Given the description of an element on the screen output the (x, y) to click on. 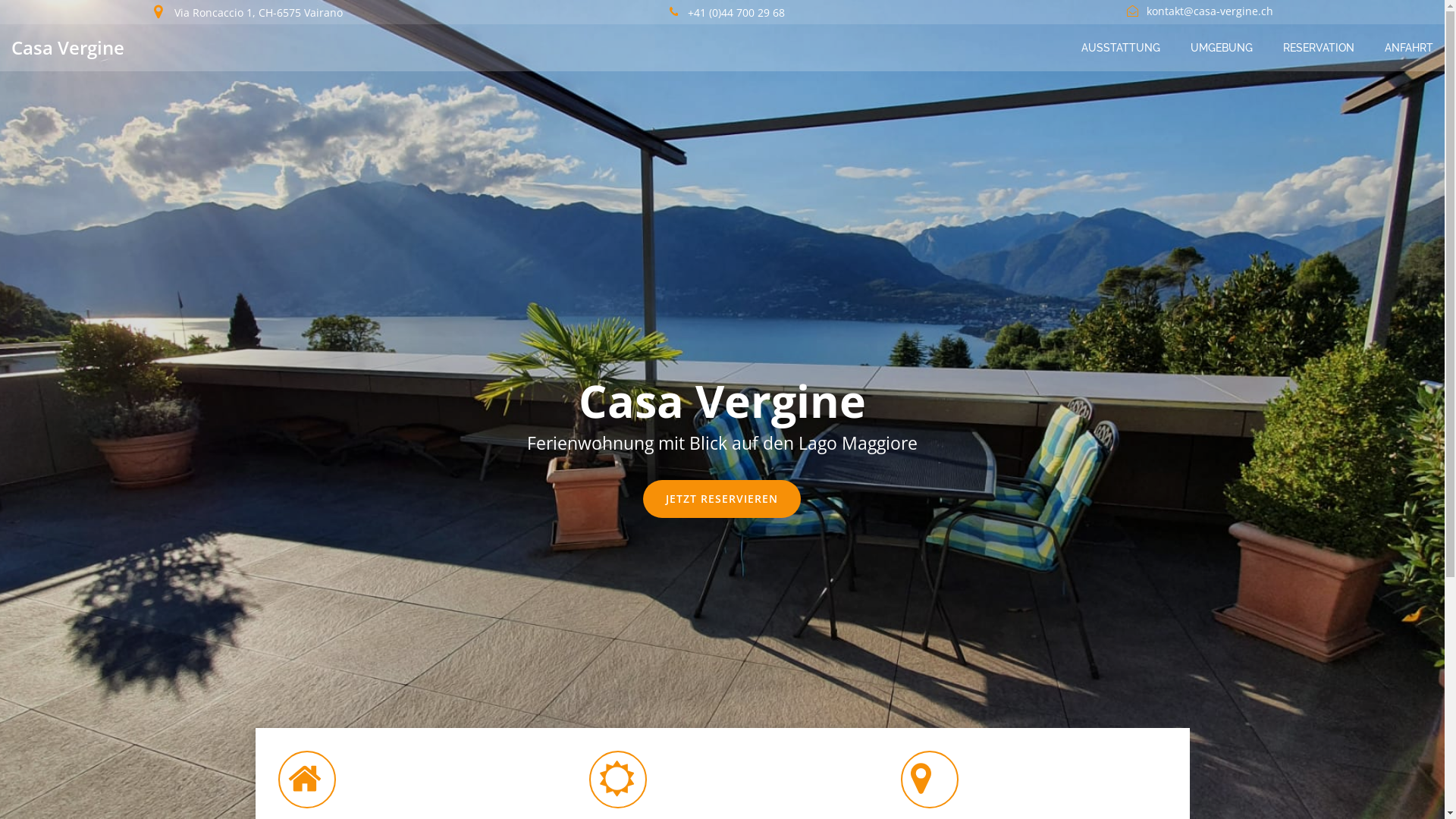
+41 (0)44 700 29 68 Element type: text (721, 11)
UMGEBUNG Element type: text (1221, 47)
kontakt@casa-vergine.ch Element type: text (1196, 10)
JETZT RESERVIEREN Element type: text (721, 498)
Casa Vergine Element type: text (67, 47)
RESERVATION Element type: text (1318, 47)
Via Roncaccio 1, CH-6575 Vairano Element type: text (247, 11)
AUSSTATTUNG Element type: text (1120, 47)
ANFAHRT Element type: text (1408, 47)
